Given the description of an element on the screen output the (x, y) to click on. 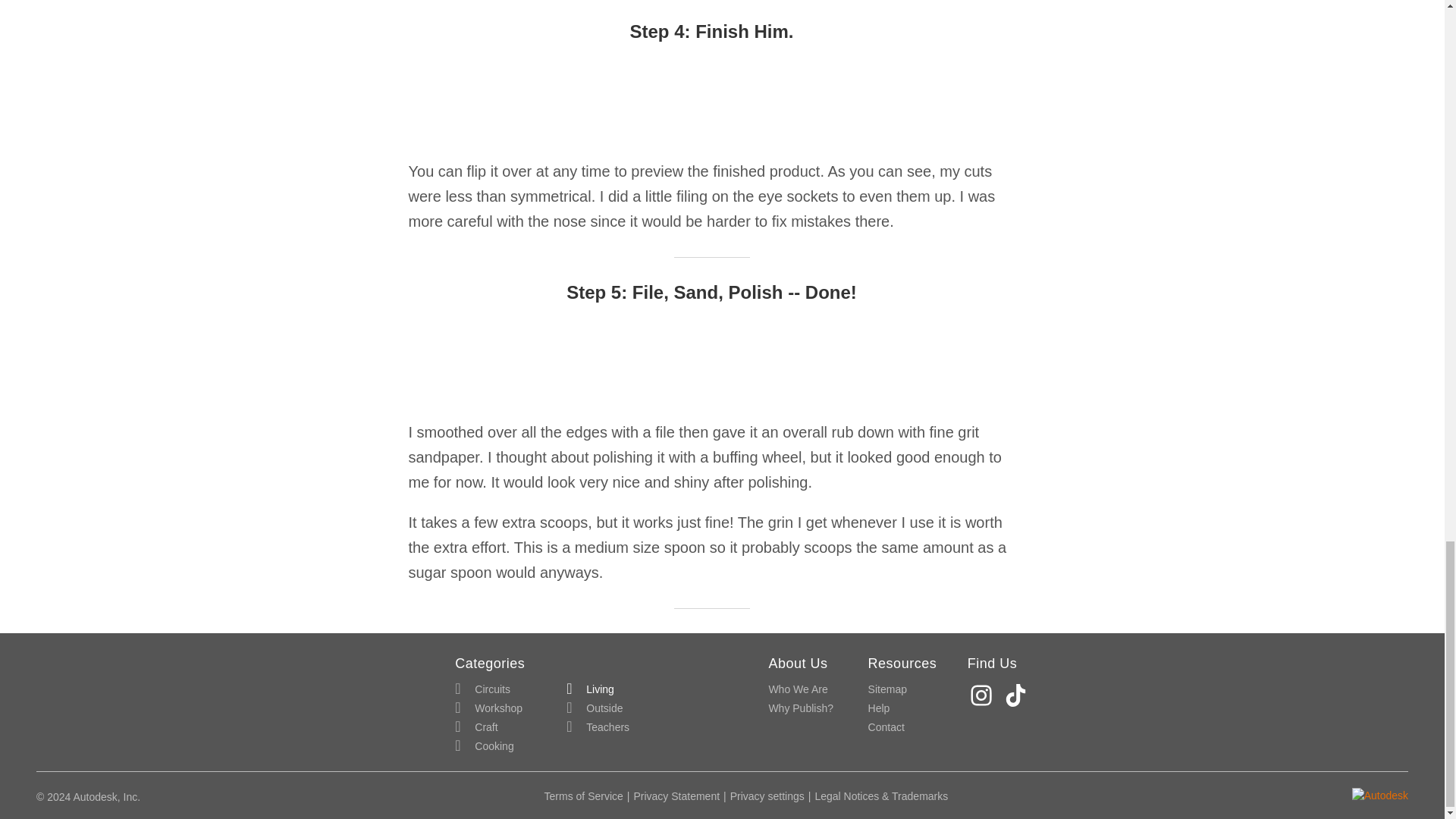
Privacy Statement (676, 796)
Circuits (482, 689)
Terms of Service (583, 796)
Living (590, 689)
Why Publish? (800, 708)
Who We Are (797, 689)
Teachers (597, 727)
Outside (594, 708)
Privacy settings (767, 796)
Cooking (483, 746)
